Given the description of an element on the screen output the (x, y) to click on. 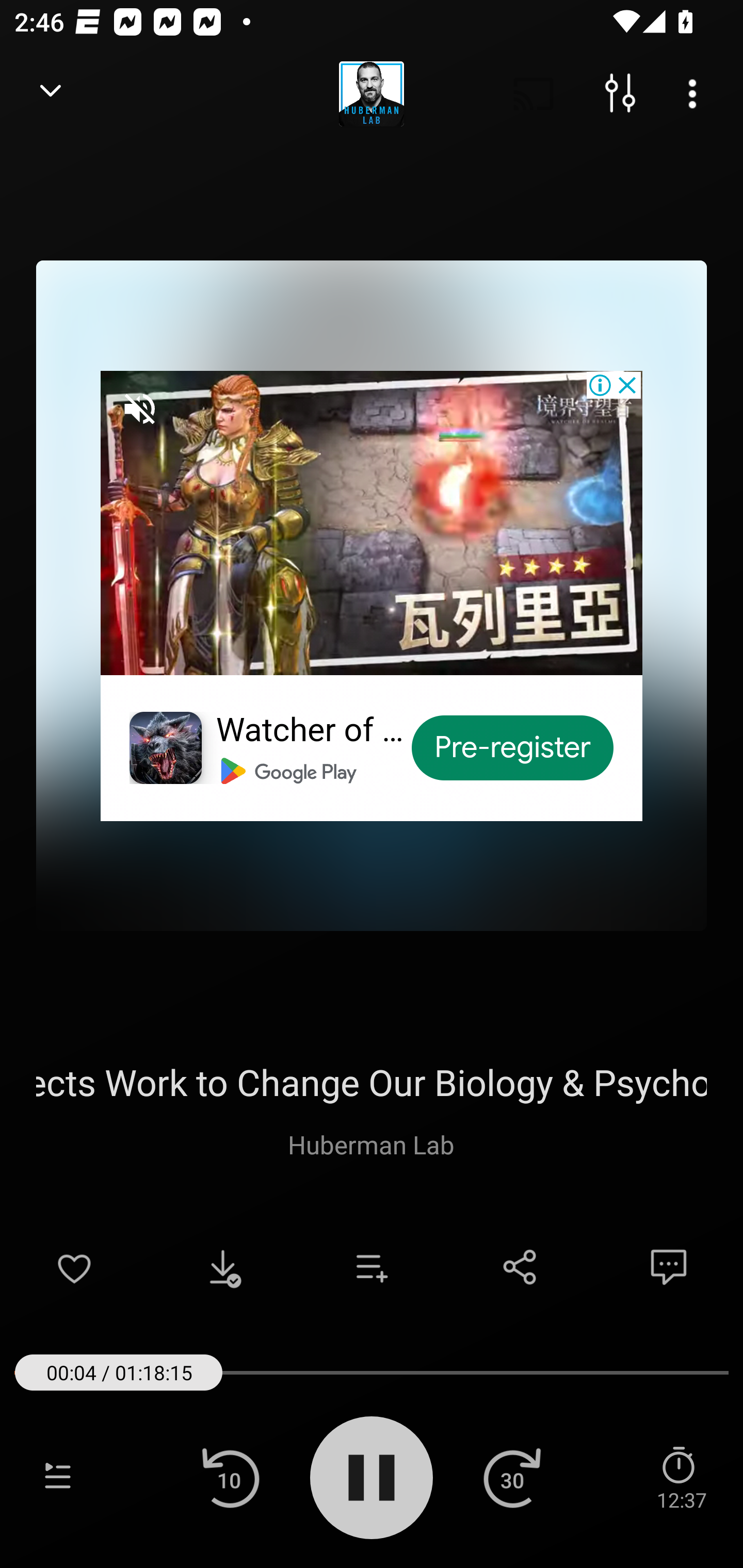
Cast. Disconnected (533, 93)
 Back (50, 94)
Watcher of … Pre-register Pre-register (371, 595)
Pre-register (512, 747)
Huberman Lab (370, 1144)
Comments (668, 1266)
Add to Favorites (73, 1266)
Add to playlist (371, 1266)
Share (519, 1266)
Sleep Timer  12:37 (681, 1477)
 Playlist (57, 1477)
